Given the description of an element on the screen output the (x, y) to click on. 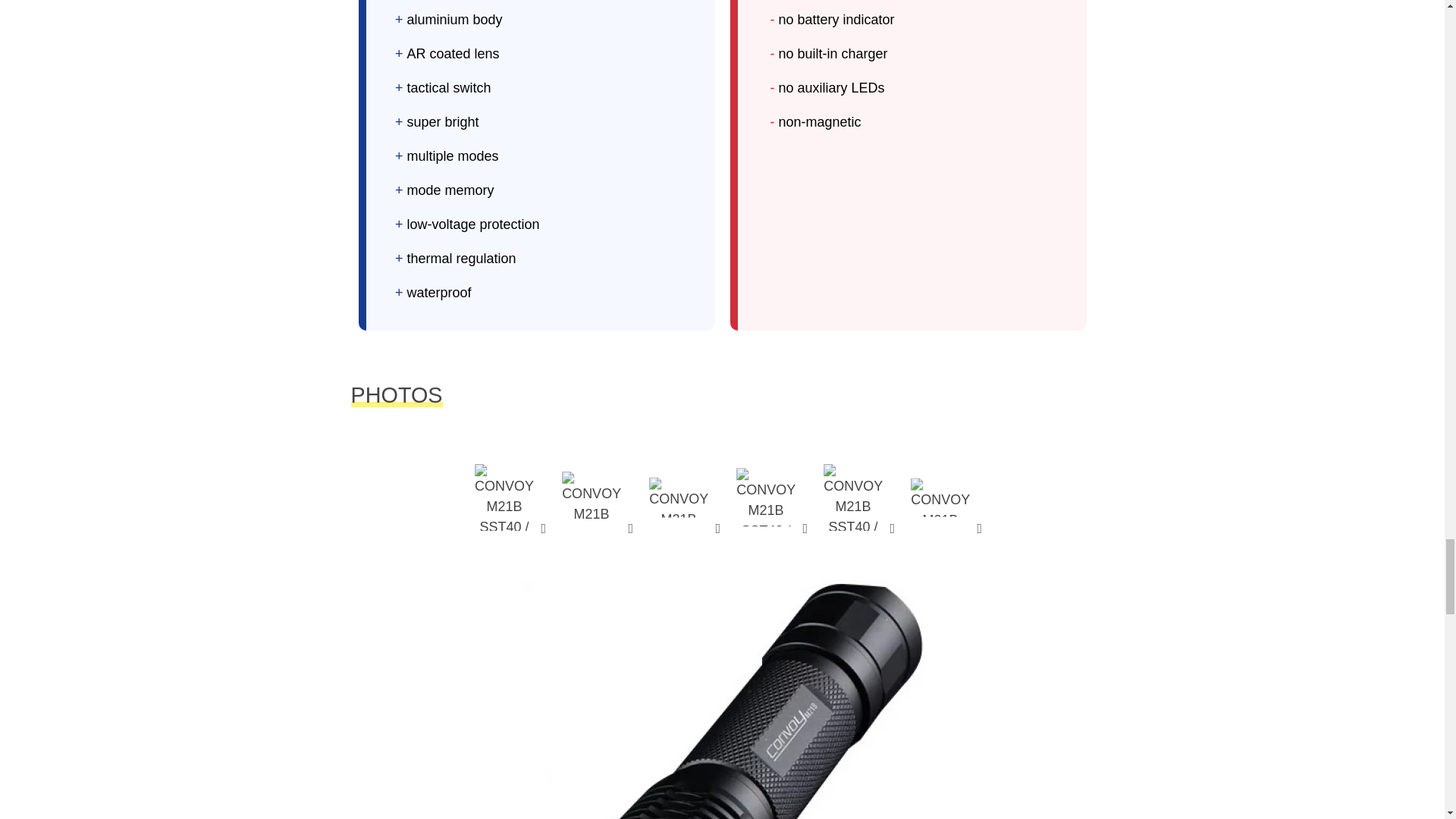
Click to view larger image (765, 496)
Click to view larger image (591, 496)
Click to view larger image (852, 496)
Click to view larger image (678, 496)
Click to view larger image (504, 496)
